Given the description of an element on the screen output the (x, y) to click on. 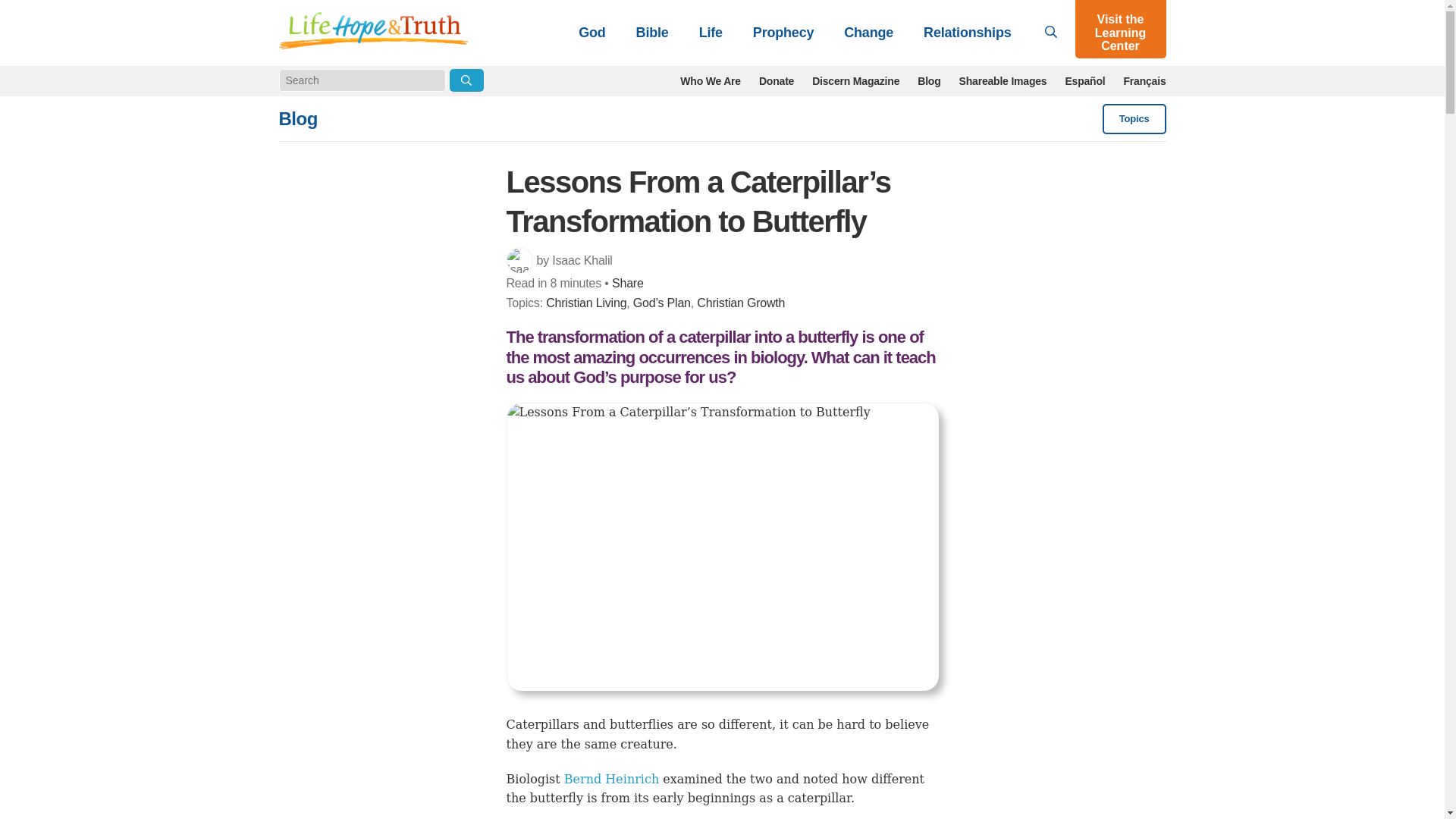
God (591, 32)
Bible (652, 32)
Life (711, 32)
